Given the description of an element on the screen output the (x, y) to click on. 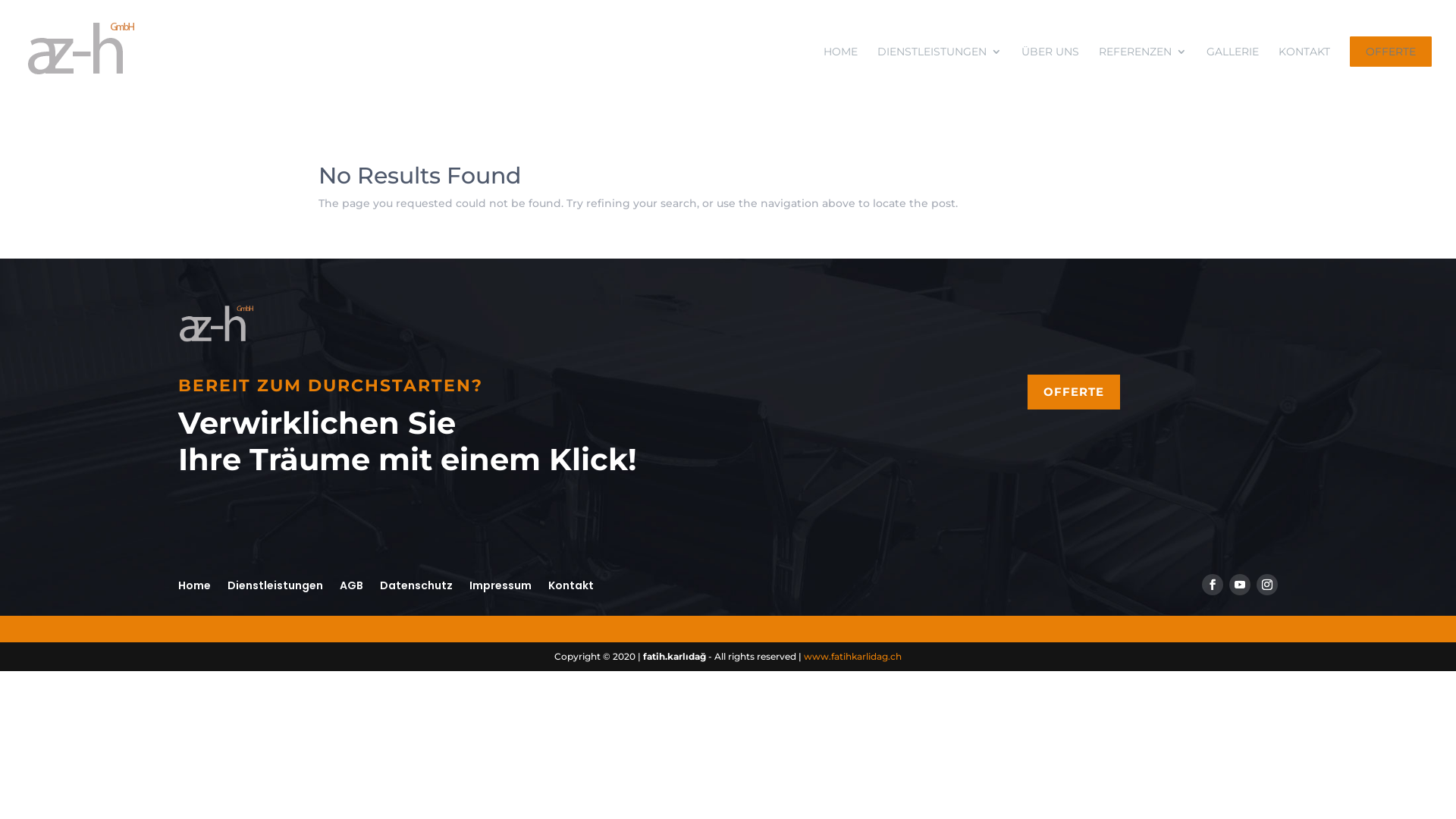
Impressum Element type: text (500, 582)
Follow on Facebook Element type: hover (1212, 584)
Follow on Instagram Element type: hover (1266, 584)
Follow on Youtube Element type: hover (1239, 584)
HOME Element type: text (840, 74)
OFFERTE Element type: text (1390, 74)
KONTAKT Element type: text (1304, 74)
www.fatihkarlidag.ch Element type: text (852, 656)
Home Element type: text (194, 582)
Dienstleistungen Element type: text (275, 582)
GALLERIE Element type: text (1232, 74)
Kontakt Element type: text (570, 582)
Datenschutz Element type: text (415, 582)
AGB Element type: text (351, 582)
OFFERTE Element type: text (1073, 392)
REFERENZEN Element type: text (1142, 74)
DIENSTLEISTUNGEN Element type: text (939, 74)
